Given the description of an element on the screen output the (x, y) to click on. 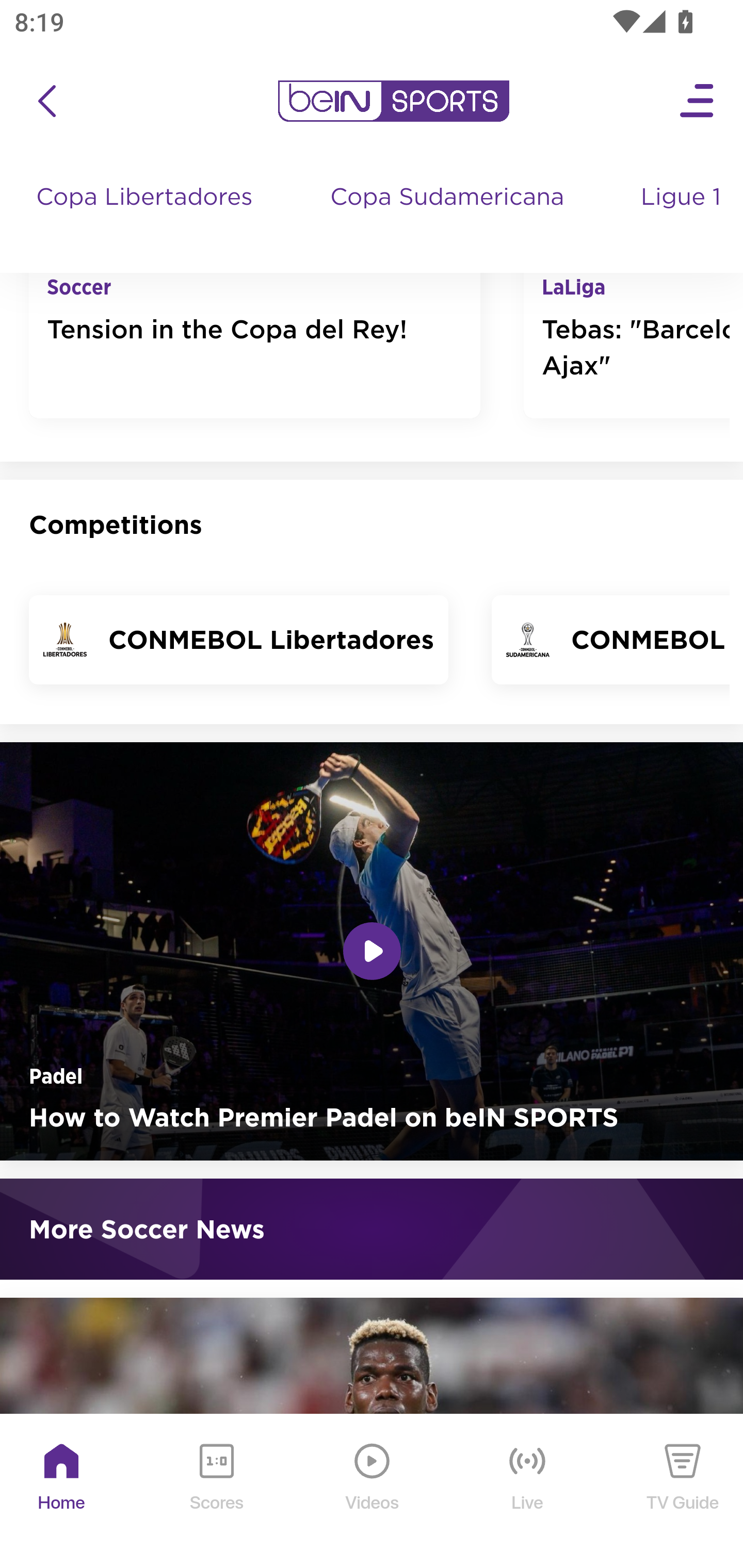
en-us?platform=mobile_android bein logo (392, 101)
icon back (46, 101)
Open Menu Icon (697, 101)
Copa Libertadores (146, 216)
Copa Sudamericana (448, 216)
Ligue 1 (682, 216)
Home Home Icon Home (61, 1491)
Scores Scores Icon Scores (216, 1491)
Videos Videos Icon Videos (372, 1491)
TV Guide TV Guide Icon TV Guide (682, 1491)
